Given the description of an element on the screen output the (x, y) to click on. 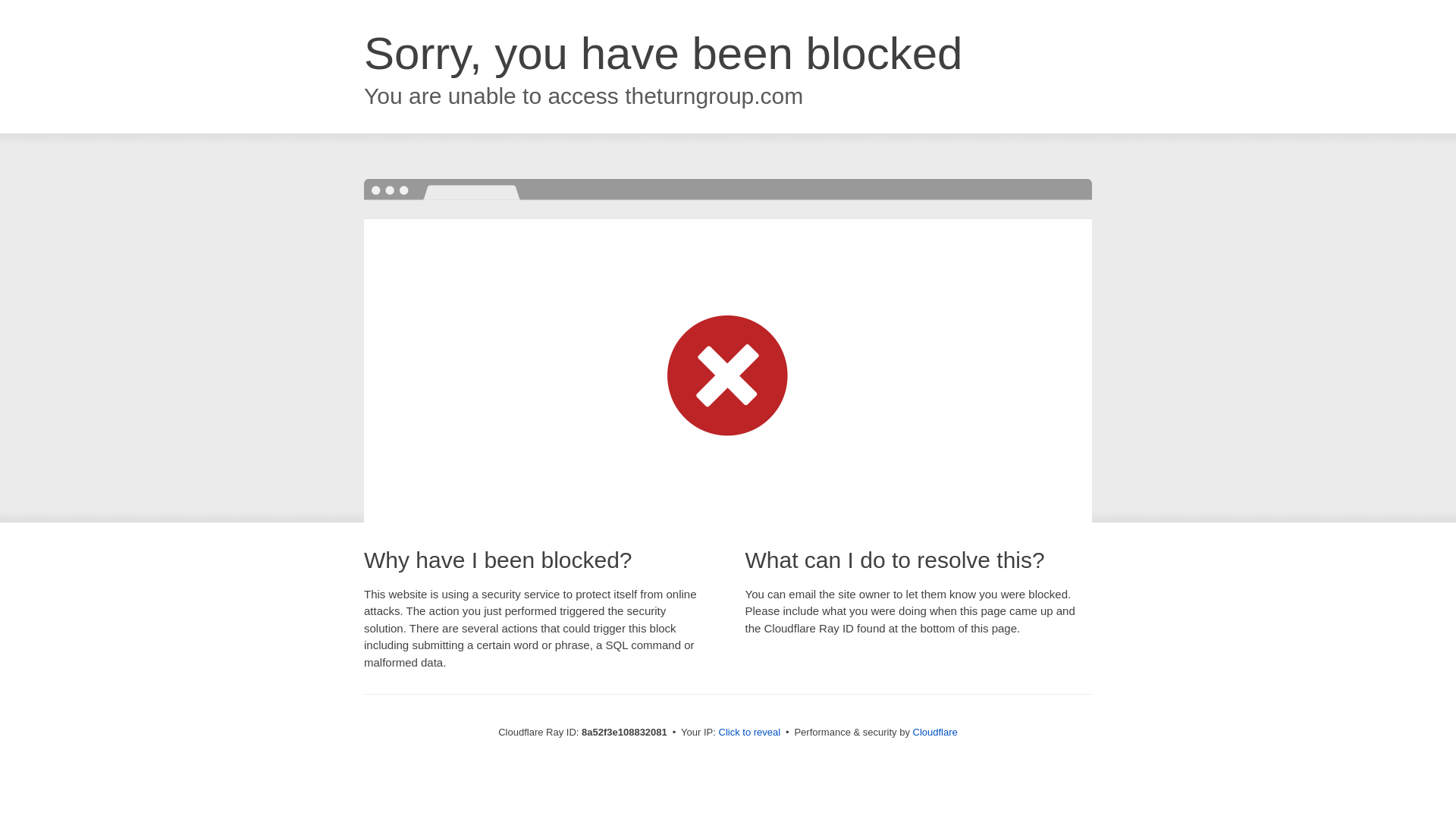
Click to reveal (749, 732)
Cloudflare (935, 731)
